Given the description of an element on the screen output the (x, y) to click on. 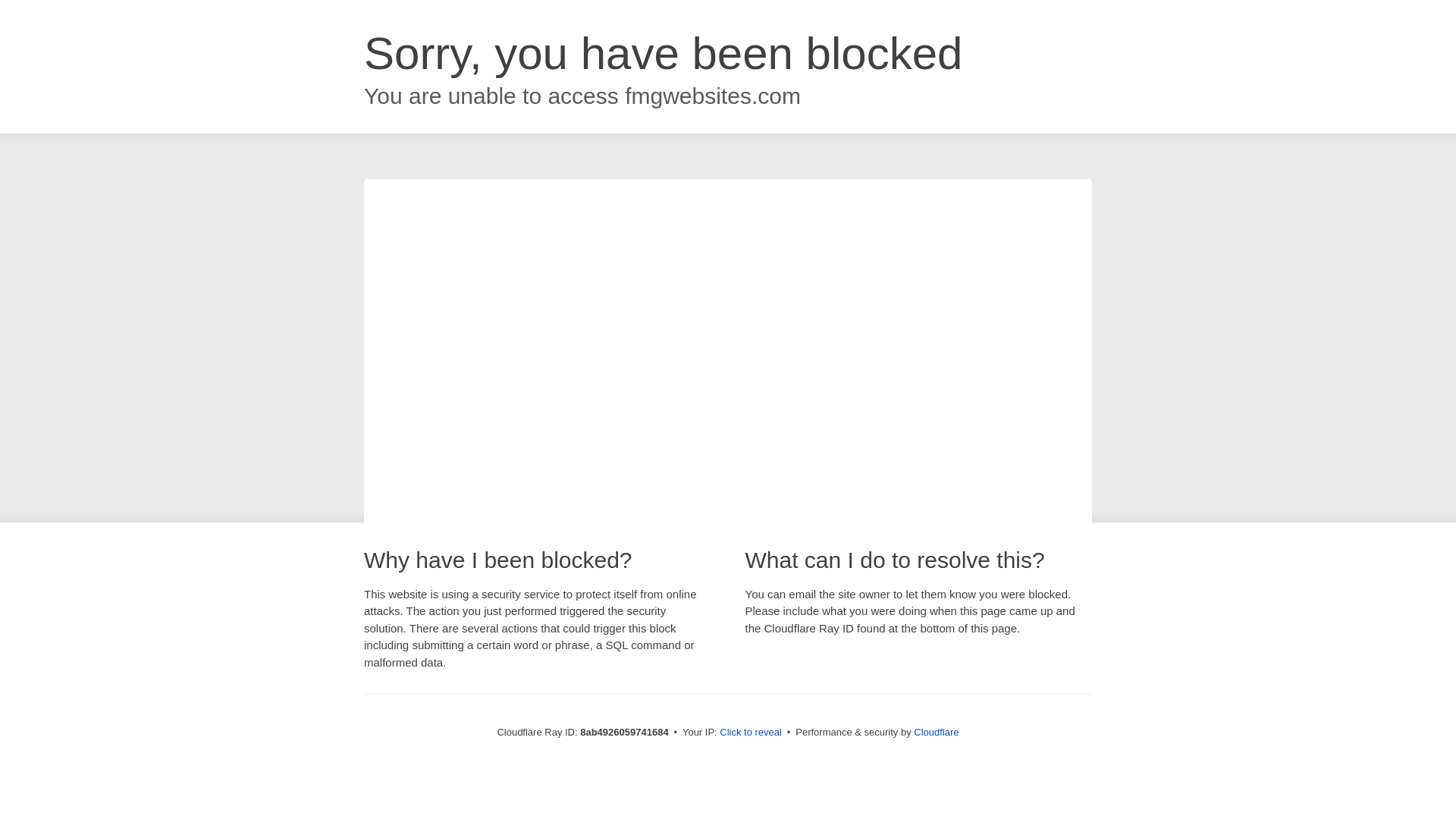
Cloudflare (936, 731)
Click to reveal (750, 732)
